Given the description of an element on the screen output the (x, y) to click on. 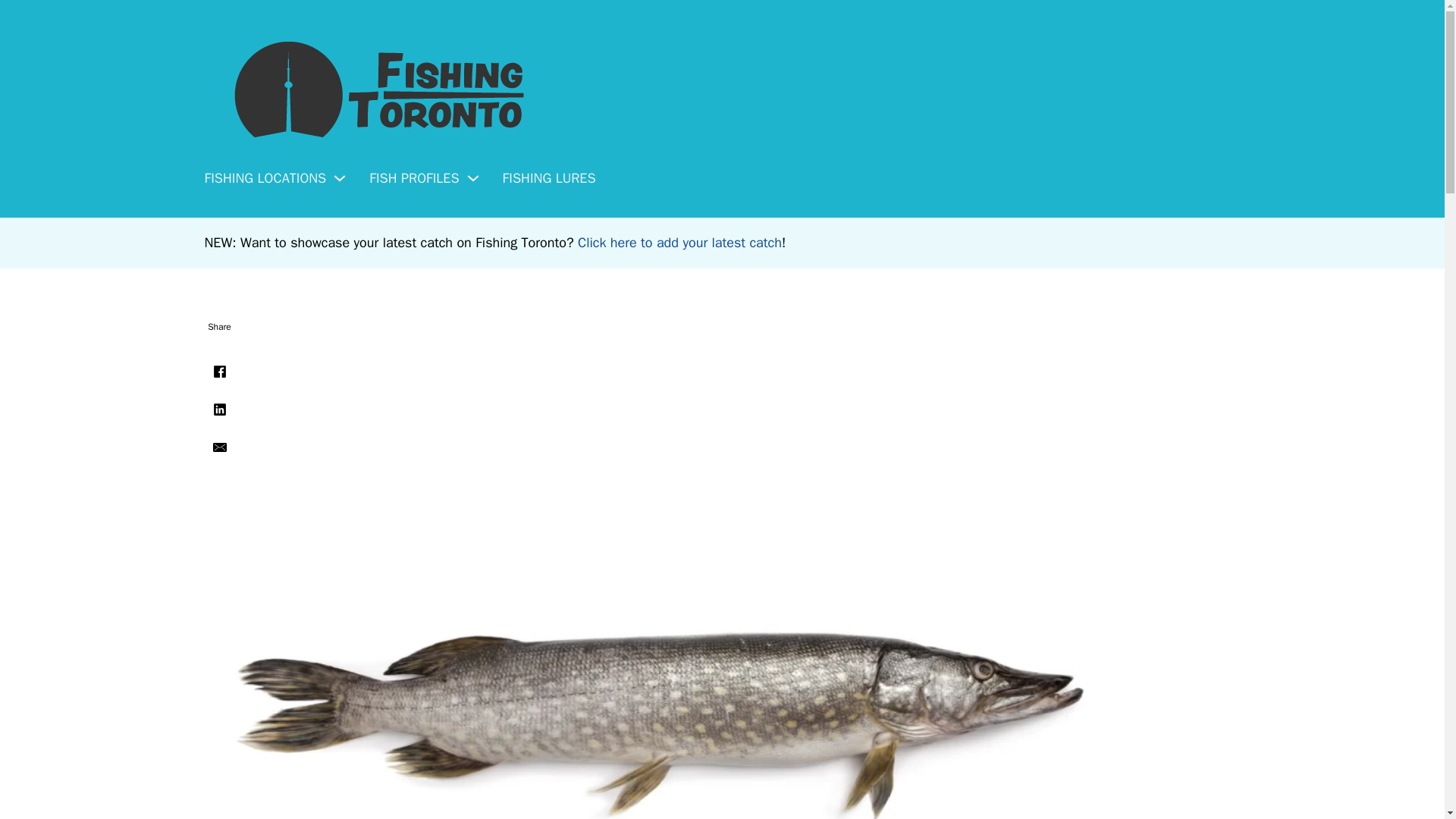
FISH PROFILES (413, 177)
FISHING LOCATIONS (265, 177)
